Given the description of an element on the screen output the (x, y) to click on. 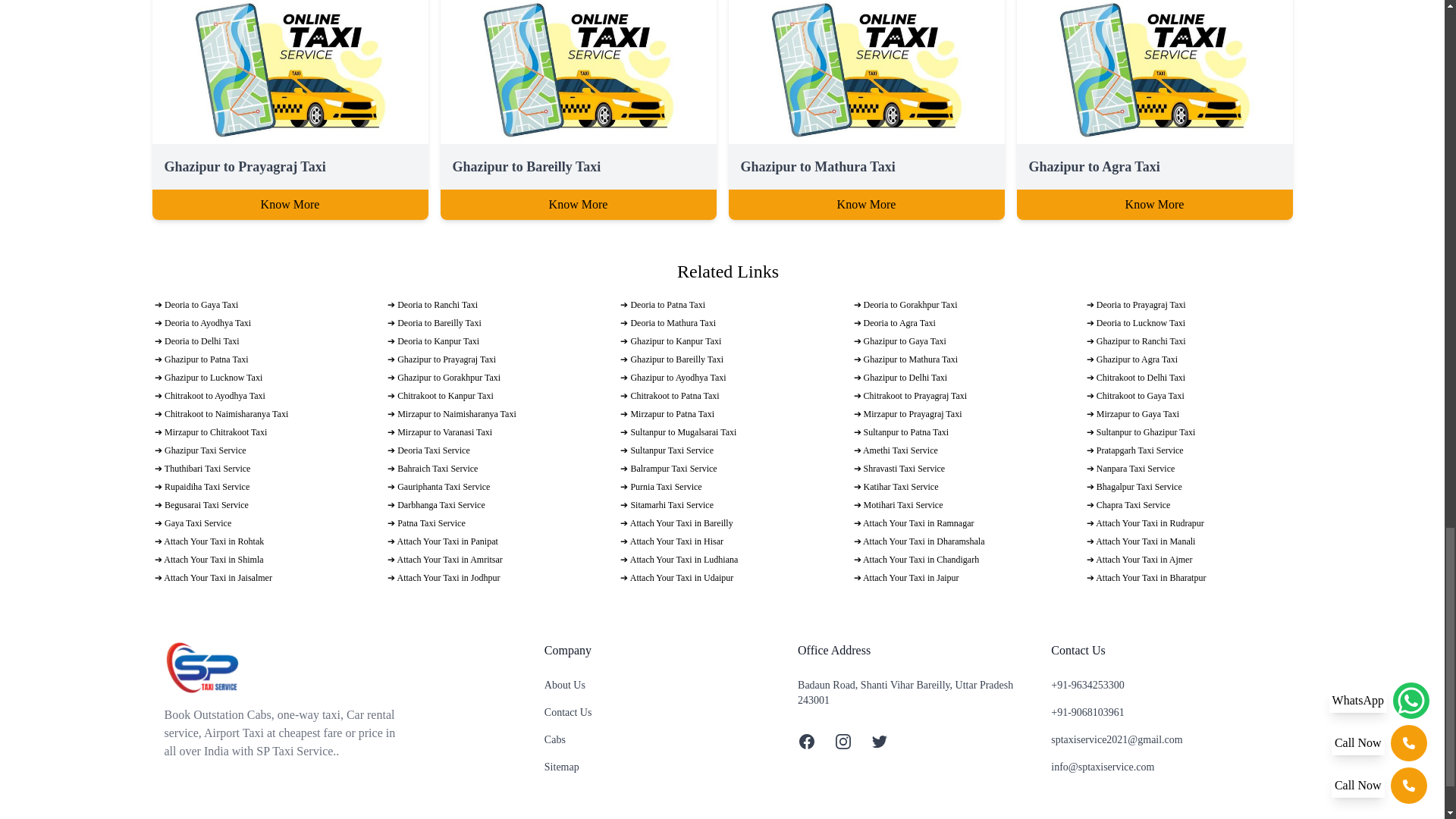
Know More (1154, 204)
Know More (289, 204)
Know More (577, 204)
Know More (866, 204)
